Given the description of an element on the screen output the (x, y) to click on. 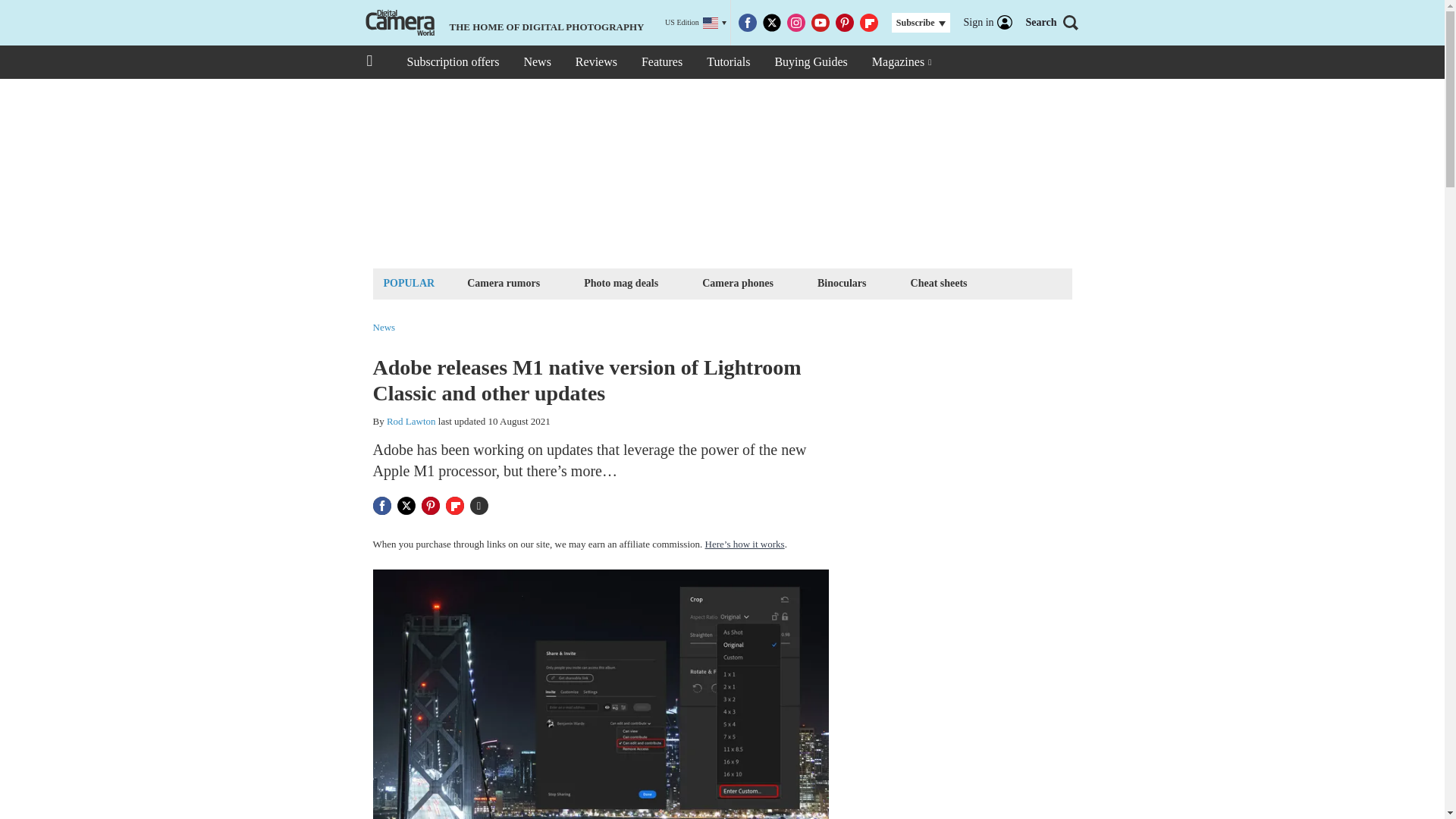
THE HOME OF DIGITAL PHOTOGRAPHY (503, 22)
Buying Guides (810, 61)
Camera phones (737, 282)
Reviews (595, 61)
Subscription offers (452, 61)
Binoculars (842, 282)
Tutorials (727, 61)
Cheat sheets (938, 282)
Camera rumors (502, 282)
Features (661, 61)
News (536, 61)
Photo mag deals (620, 282)
US Edition (695, 22)
